Given the description of an element on the screen output the (x, y) to click on. 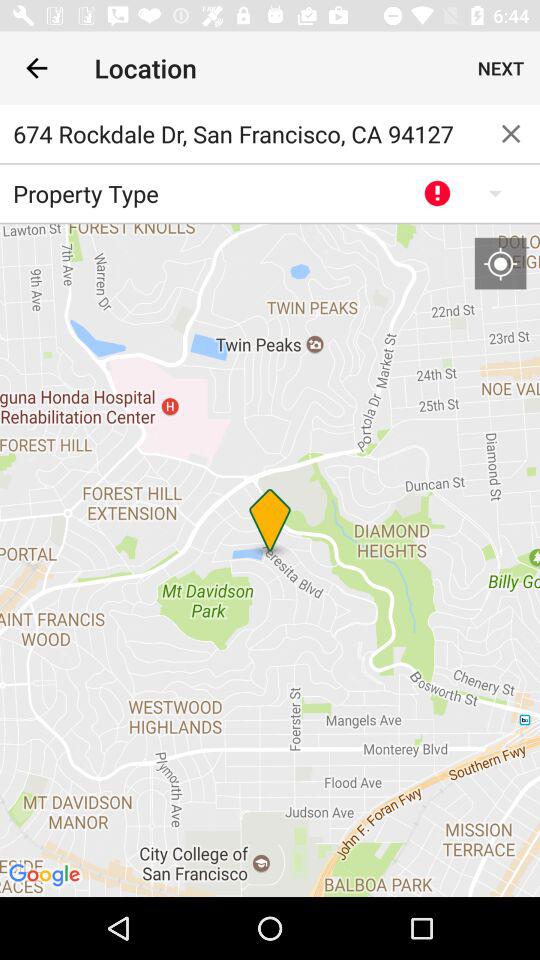
choose the icon next to location icon (500, 67)
